Given the description of an element on the screen output the (x, y) to click on. 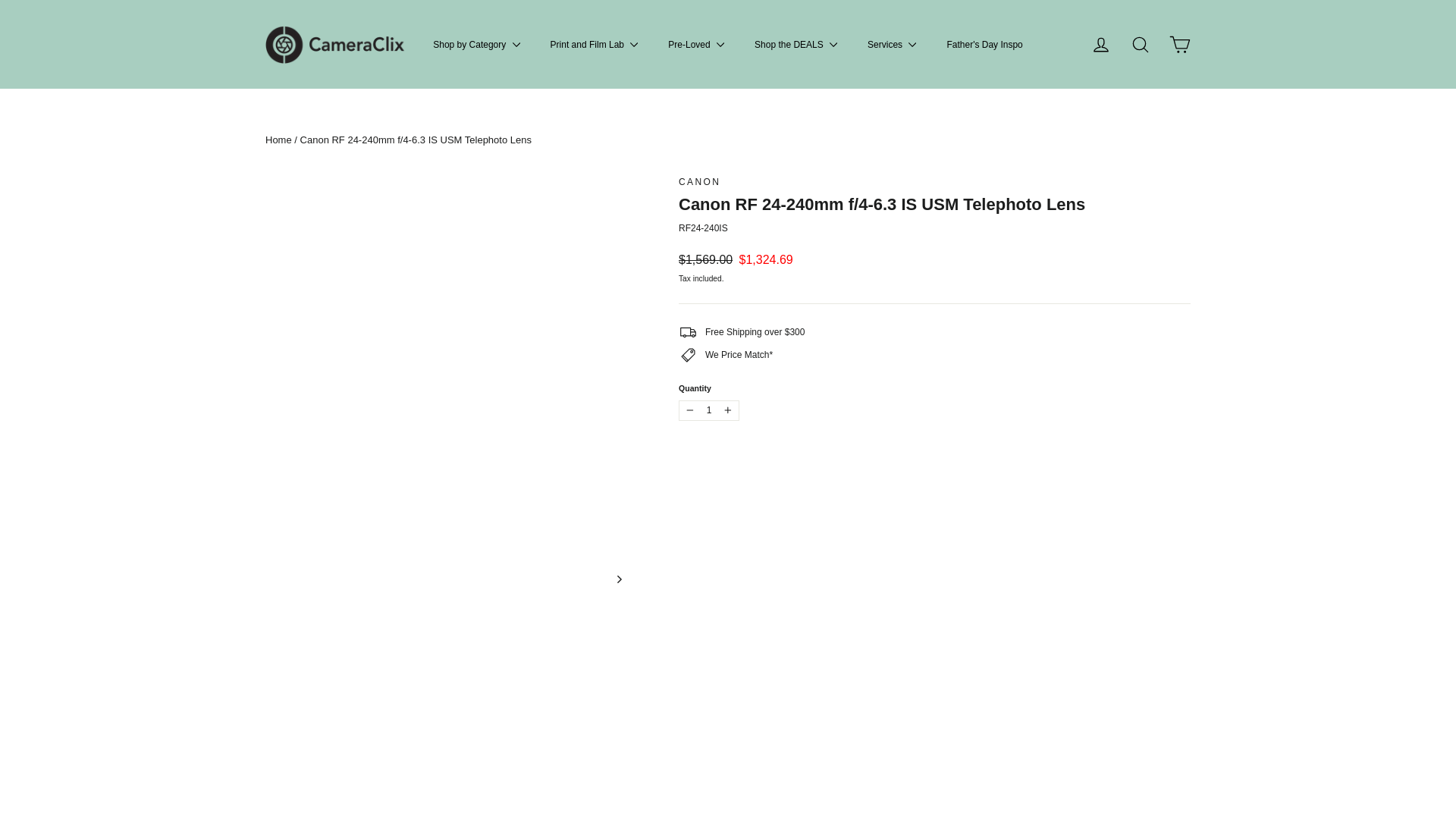
Back to the frontpage (278, 139)
icon-search (1140, 44)
icon-cart (1180, 44)
1 (708, 410)
account (1101, 44)
